Given the description of an element on the screen output the (x, y) to click on. 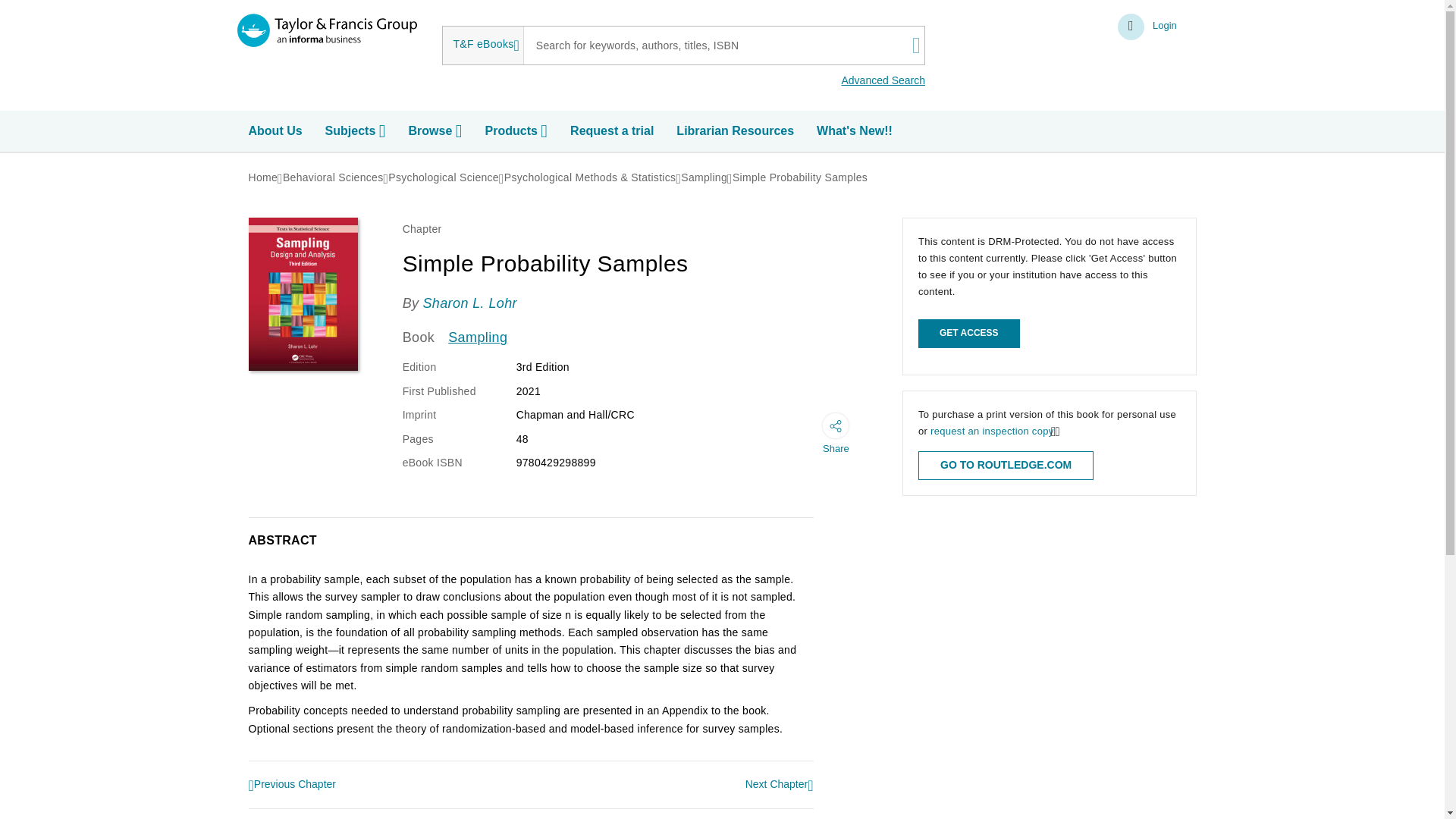
Request a trial (614, 130)
About Us (276, 130)
Simple Probability Samples (799, 177)
Subjects (357, 130)
request an inspection copy (991, 430)
Librarian Resources (737, 130)
Products (517, 130)
Psychological Science (443, 177)
Next Chapter (779, 784)
Previous Chapter (292, 785)
Products (517, 130)
Login (1147, 26)
Introduction (292, 785)
Browse (437, 130)
Stratified Sampling (779, 784)
